Given the description of an element on the screen output the (x, y) to click on. 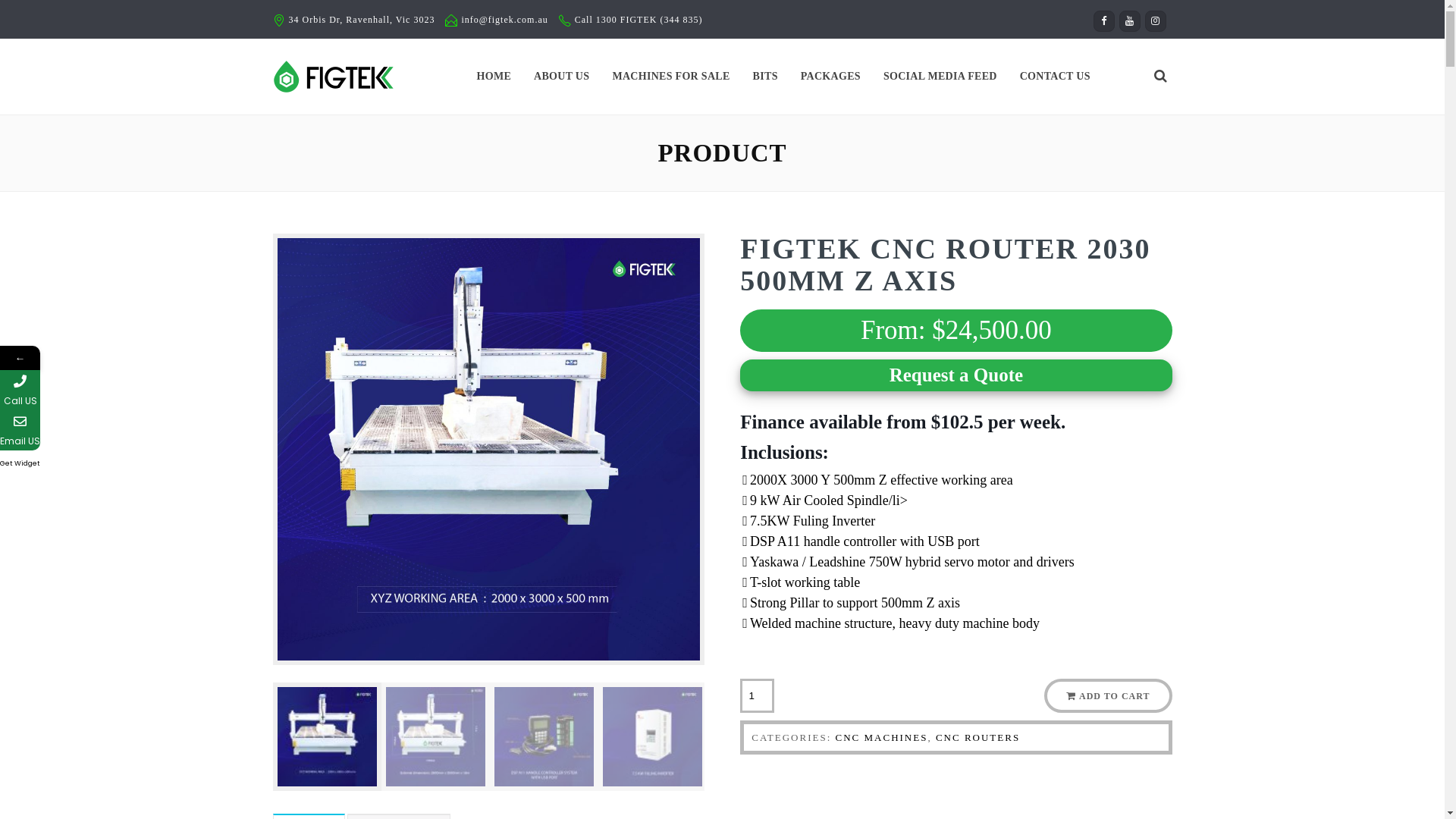
CNC MACHINES Element type: text (881, 737)
ABOUT US Element type: text (561, 76)
HOME Element type: text (494, 76)
Get Widget Element type: text (20, 463)
PACKAGES Element type: text (830, 76)
Call US Element type: text (20, 390)
CNC ROUTERS Element type: text (977, 737)
Email US Element type: text (20, 430)
CONTACT US Element type: text (1054, 76)
Qty Element type: hover (757, 695)
ADD TO CART Element type: text (1107, 695)
MACHINES FOR SALE Element type: text (670, 76)
Request a Quote Element type: text (955, 375)
SOCIAL MEDIA FEED Element type: text (940, 76)
BITS Element type: text (765, 76)
Phone Element type: text (92, 390)
Email Element type: text (92, 430)
